Given the description of an element on the screen output the (x, y) to click on. 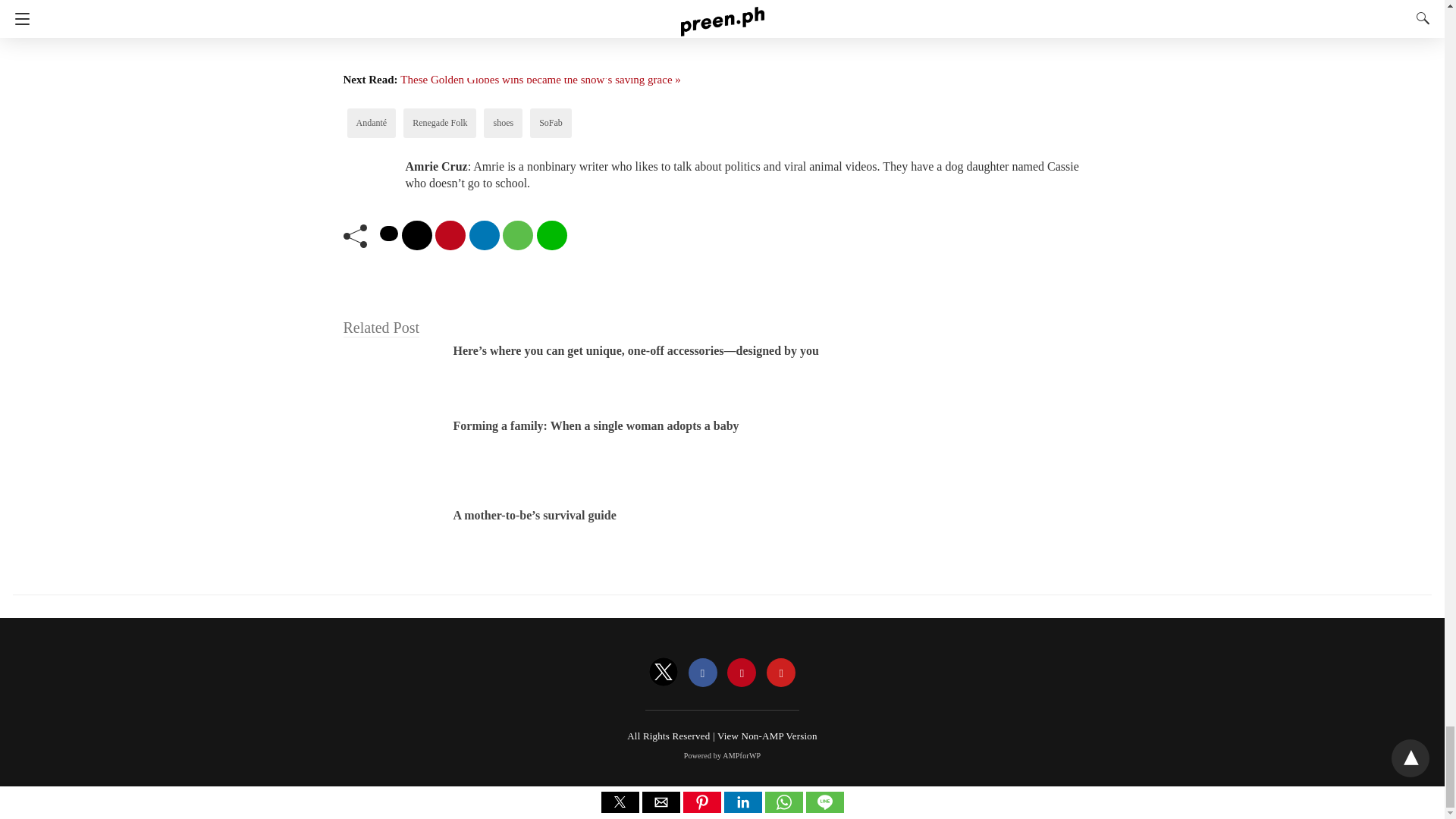
facebook profile (702, 673)
SoFab (550, 122)
View Non-AMP Version (766, 736)
mailto (416, 235)
line share (552, 235)
Forming a family: When a single woman adopts a baby (595, 425)
Renegade Folk (439, 122)
shoes (503, 122)
youtube profile (780, 673)
Powered by AMPforWP (722, 755)
twitter profile (663, 673)
twitter share (388, 233)
pinterest profile (740, 673)
View Non-AMP Version (766, 736)
whatsapp share (517, 235)
